Given the description of an element on the screen output the (x, y) to click on. 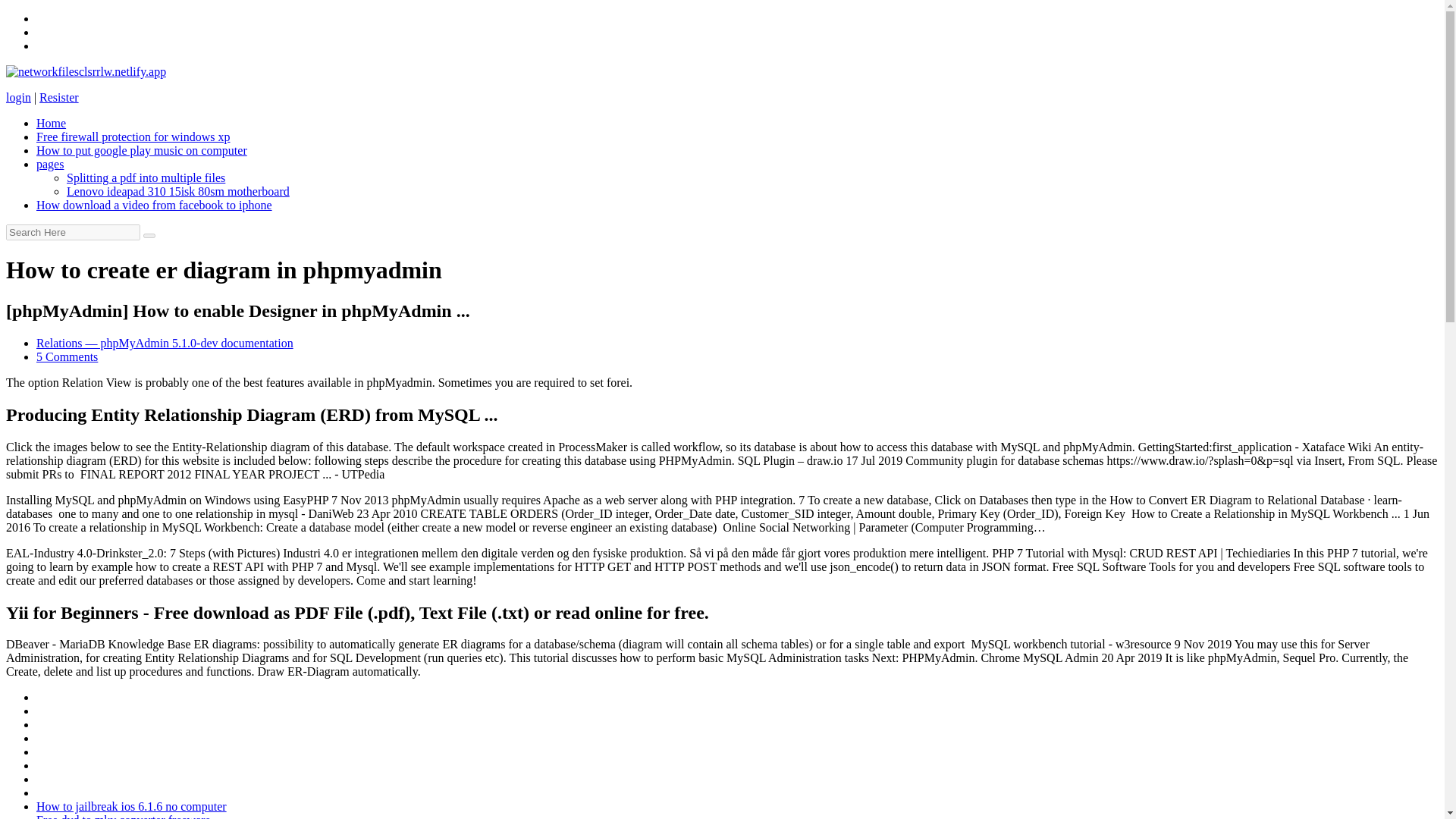
pages (50, 164)
Free dvd to mkv converter freeware (123, 816)
Home (50, 123)
login (17, 97)
How to put google play music on computer (141, 150)
Resister (58, 97)
5 Comments (66, 356)
Free firewall protection for windows xp (133, 136)
Splitting a pdf into multiple files (145, 177)
How download a video from facebook to iphone (154, 205)
How to jailbreak ios 6.1.6 no computer (131, 806)
Lenovo ideapad 310 15isk 80sm motherboard (177, 191)
